Given the description of an element on the screen output the (x, y) to click on. 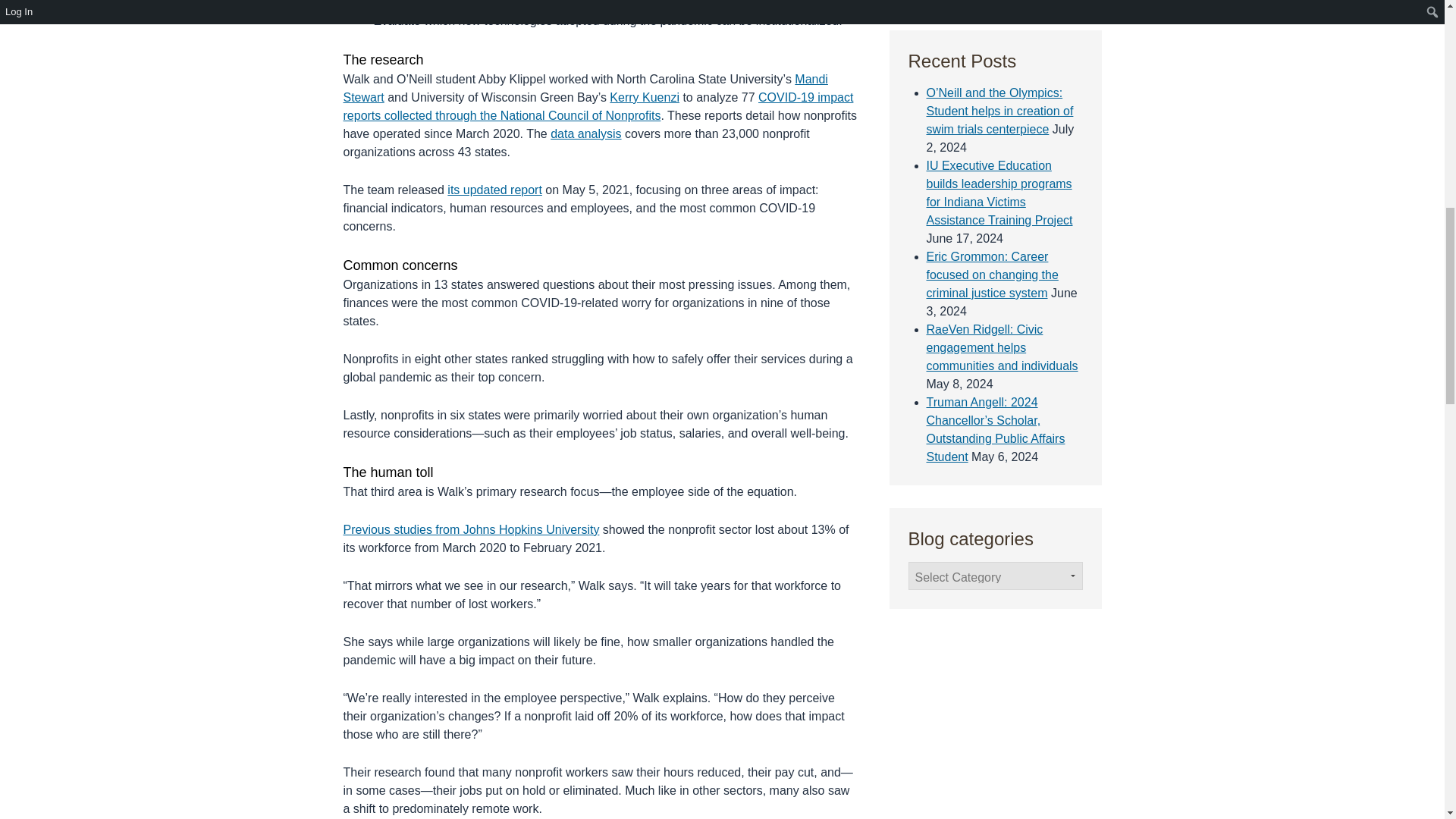
Mandi Stewart (584, 88)
data analysis (585, 133)
Previous studies from Johns Hopkins University (470, 529)
Kerry Kuenzi (644, 97)
its updated report (493, 189)
